Given the description of an element on the screen output the (x, y) to click on. 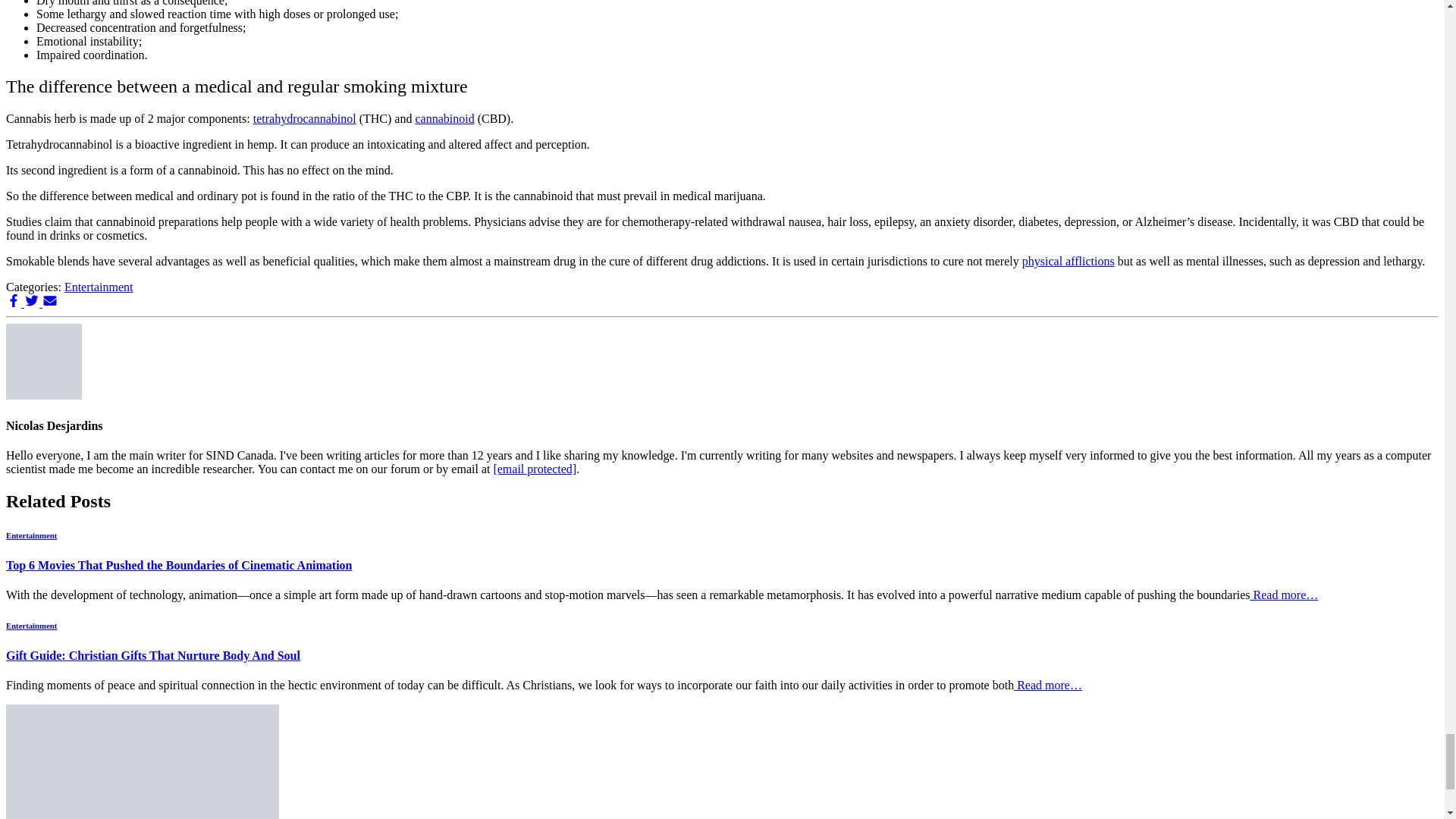
cannabinoid (444, 118)
physical afflictions (1068, 260)
Entertainment (98, 286)
tetrahydrocannabinol (304, 118)
